Given the description of an element on the screen output the (x, y) to click on. 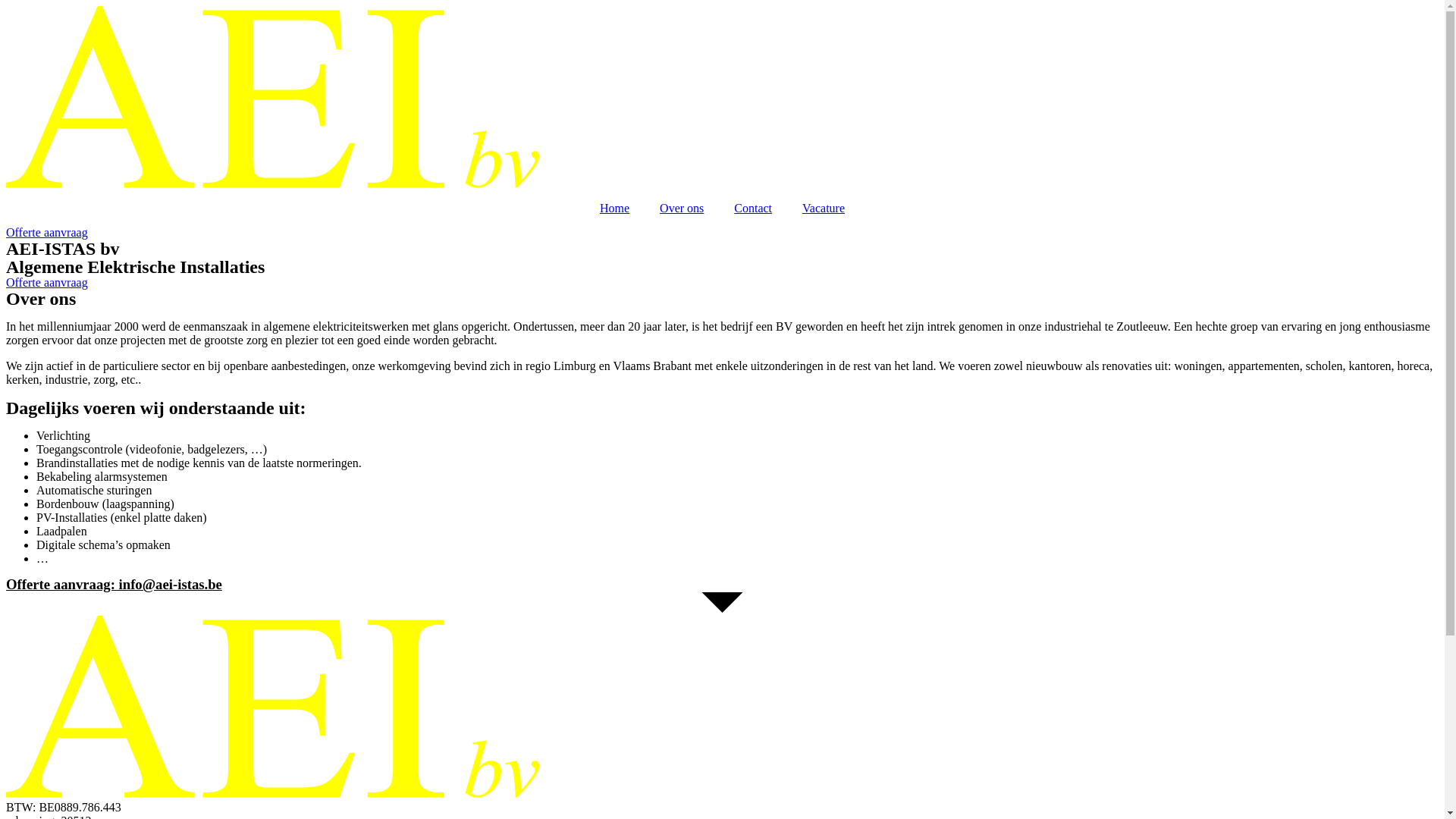
Over ons Element type: text (681, 208)
Contact Element type: text (752, 208)
Vacature Element type: text (823, 208)
Offerte aanvraag Element type: text (46, 231)
Home Element type: text (614, 208)
Offerte aanvraag Element type: text (46, 282)
Offerte aanvraag: info@aei-istas.be Element type: text (114, 584)
